Given the description of an element on the screen output the (x, y) to click on. 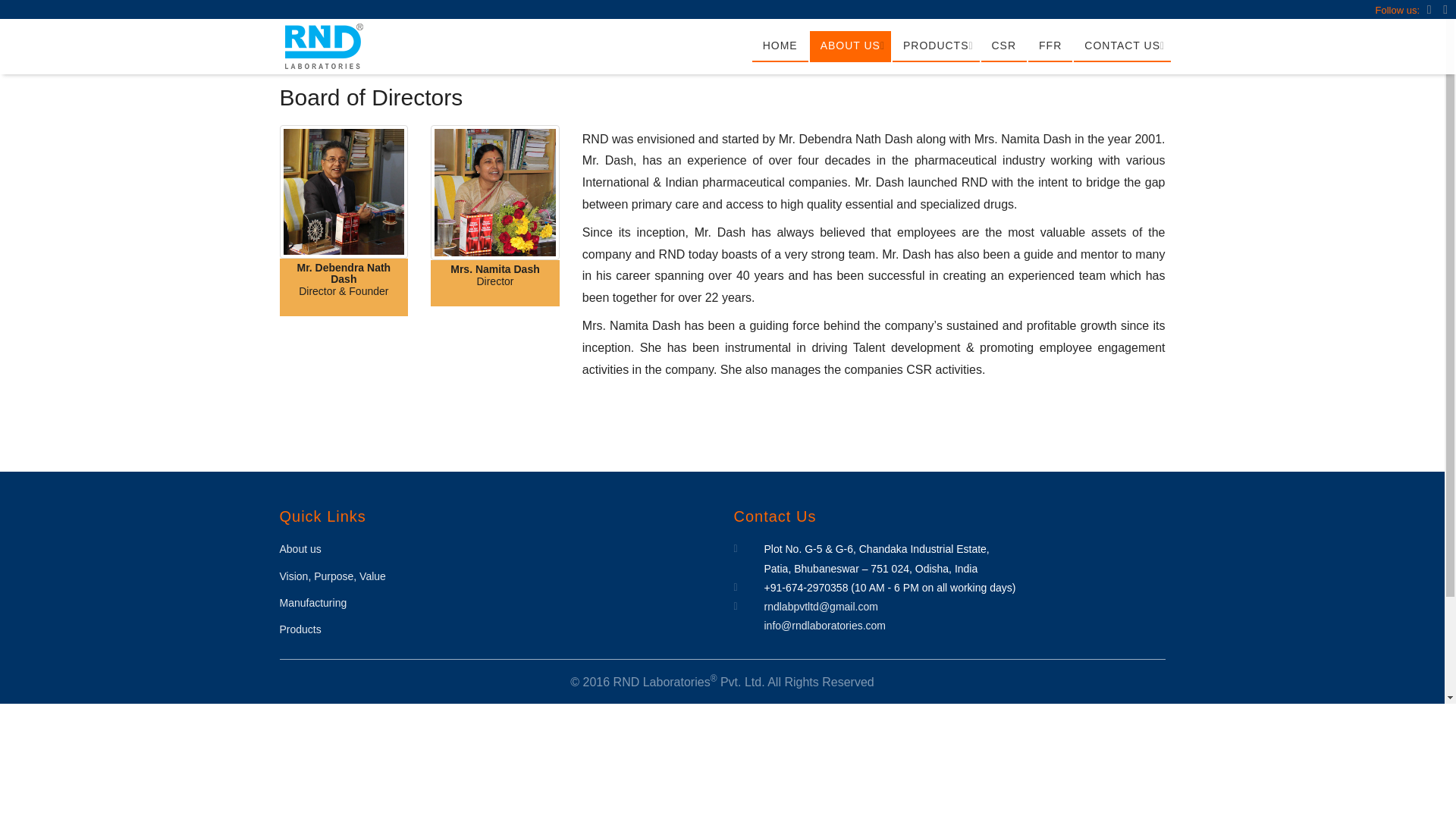
CONTACT US (1122, 46)
CSR (1004, 46)
Manufacturing (312, 603)
Products (299, 629)
HOME (780, 46)
About us (299, 548)
PRODUCTS (935, 46)
Vision, Purpose, Value (332, 576)
FFR (1049, 46)
ABOUT US (850, 46)
